Given the description of an element on the screen output the (x, y) to click on. 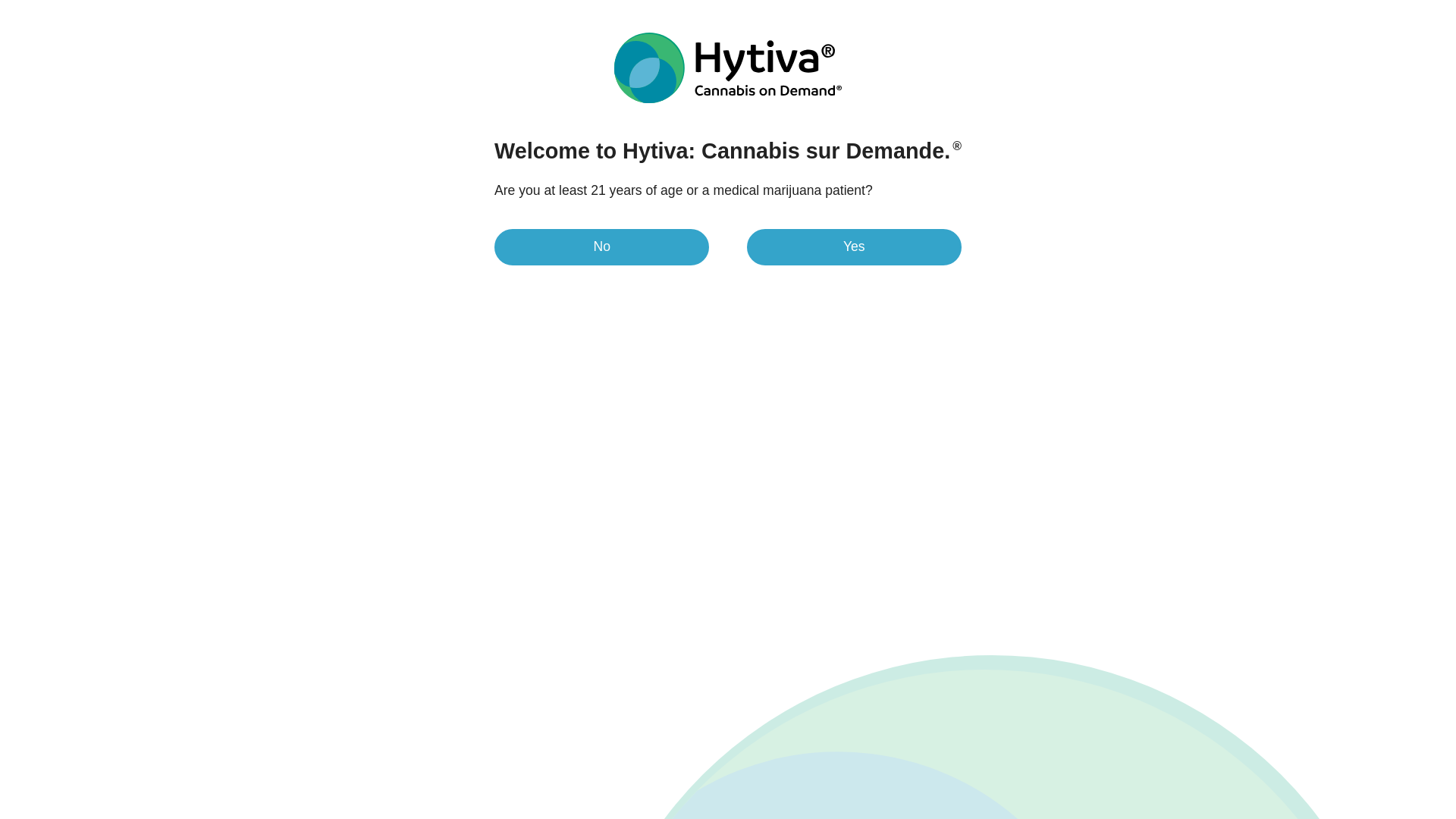
Compte (1244, 55)
Souches (396, 56)
Panier (1289, 55)
Cooking (1049, 613)
Style de vie (592, 56)
Cooking (177, 128)
Five Celebrity Chefs Cooking with Cannabis (1166, 363)
Langue (1283, 10)
Services aux entreprises (1084, 9)
Cooking (1049, 333)
Langue (1283, 10)
Menu (339, 56)
Brands (537, 56)
Las Vegas, NV (1200, 10)
View All Cooking Articles (1049, 333)
